Given the description of an element on the screen output the (x, y) to click on. 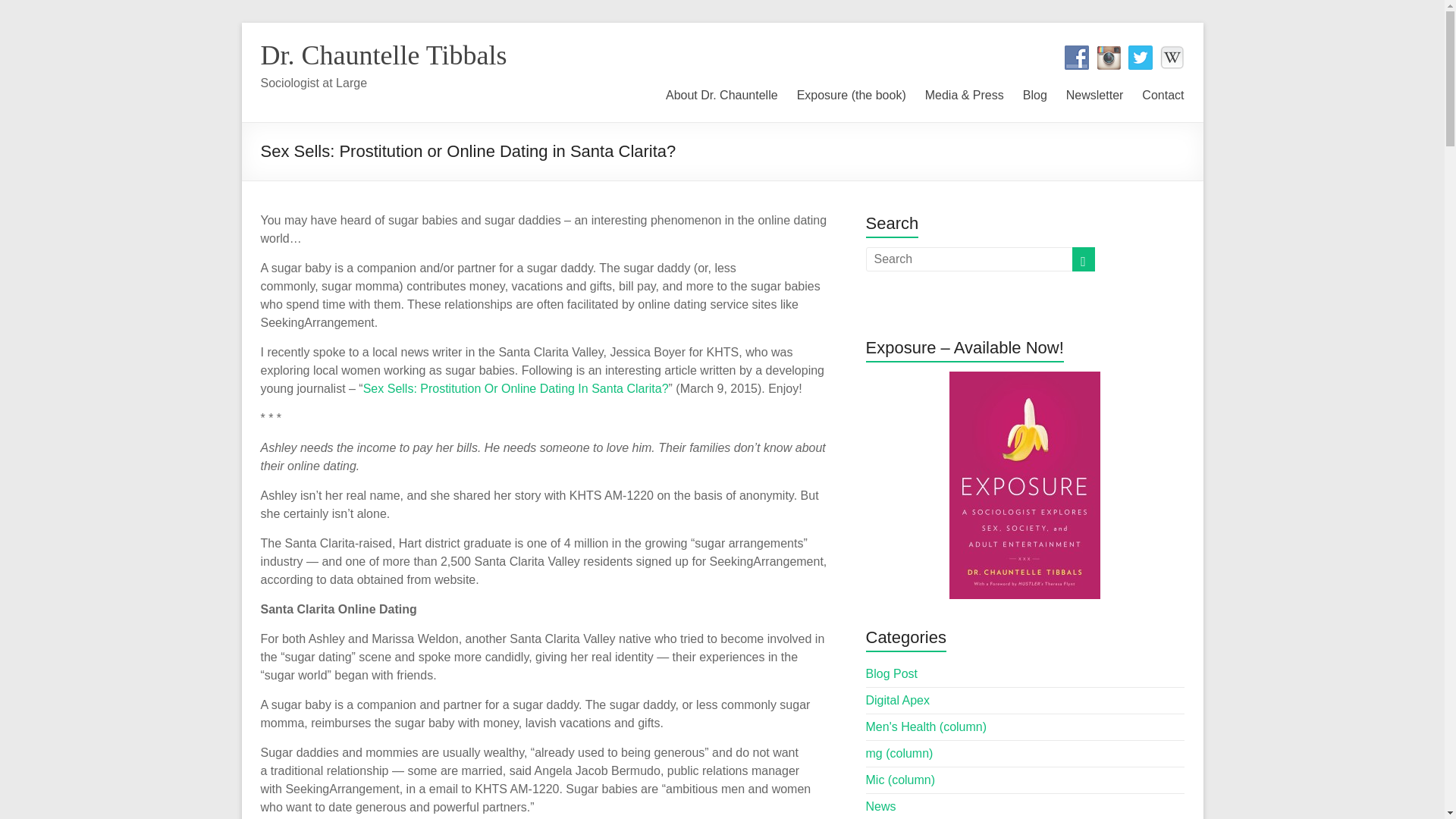
Contact (1162, 93)
Search (38, 11)
Newsletter (1094, 93)
Dr. Chauntelle Tibbals (383, 55)
Sex Sells: Prostitution Or Online Dating In Santa Clarita? (515, 388)
Dr. Chauntelle Tibbals (383, 55)
Visit me on Twitter (1140, 57)
Visit me on  (1172, 57)
About Dr. Chauntelle (721, 93)
Visit me on Instagram (1108, 57)
Visit me on Facebook (1076, 57)
